Given the description of an element on the screen output the (x, y) to click on. 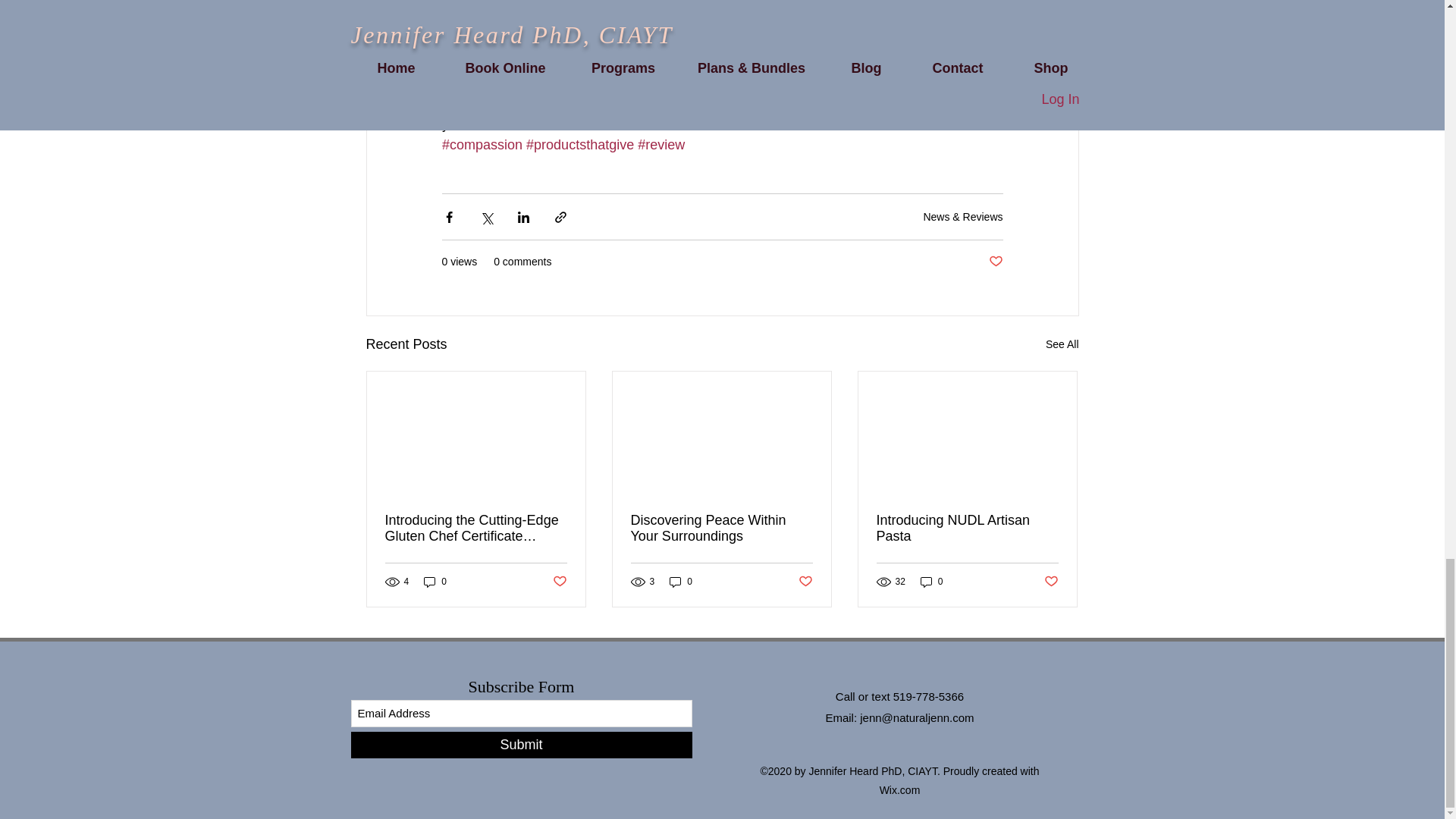
Post not marked as liked (558, 581)
0 (435, 581)
Post not marked as liked (995, 261)
See All (1061, 344)
